Given the description of an element on the screen output the (x, y) to click on. 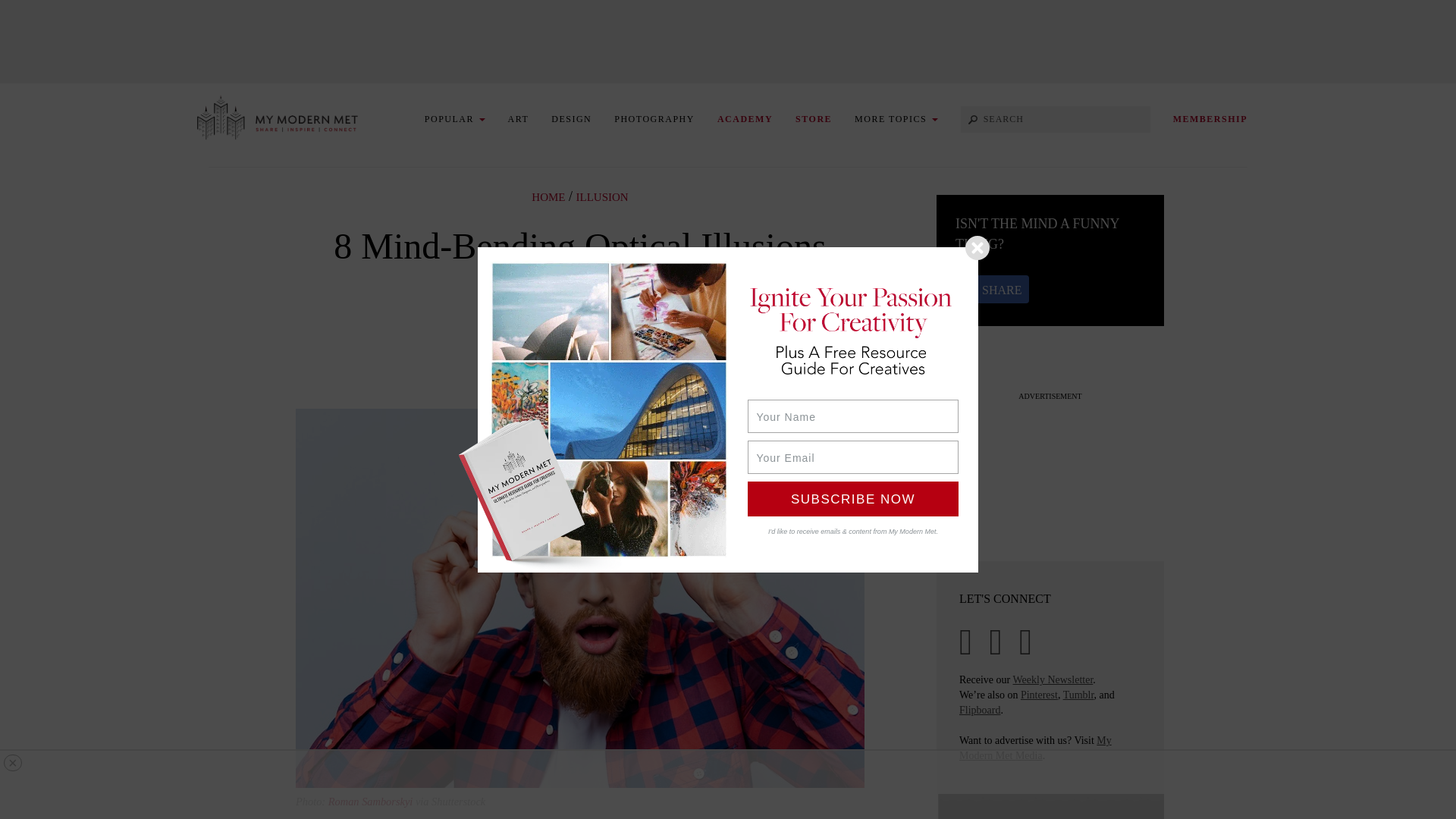
Close (977, 247)
SUBSCRIBE NOW (853, 497)
